Given the description of an element on the screen output the (x, y) to click on. 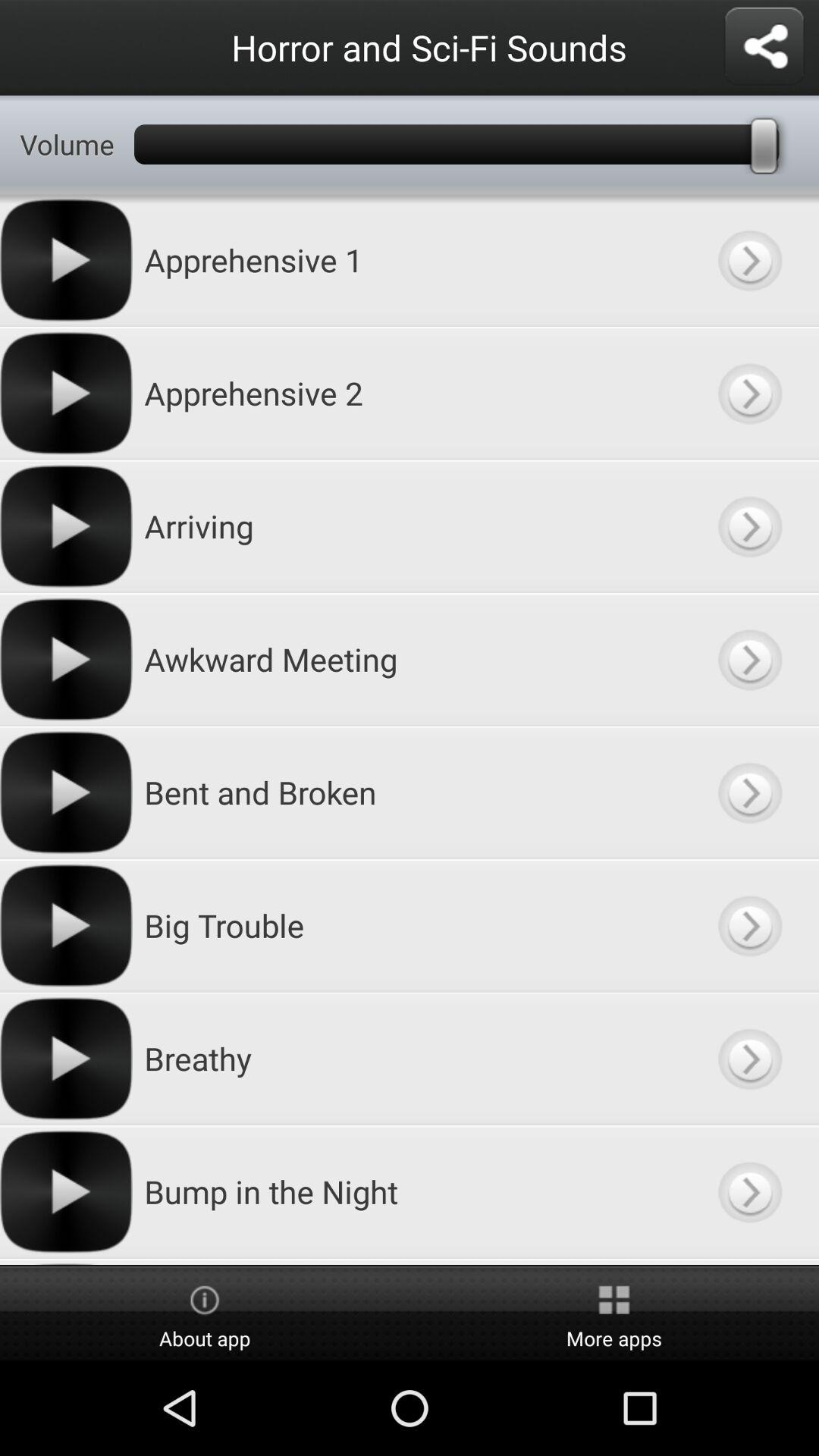
select this item (749, 393)
